Given the description of an element on the screen output the (x, y) to click on. 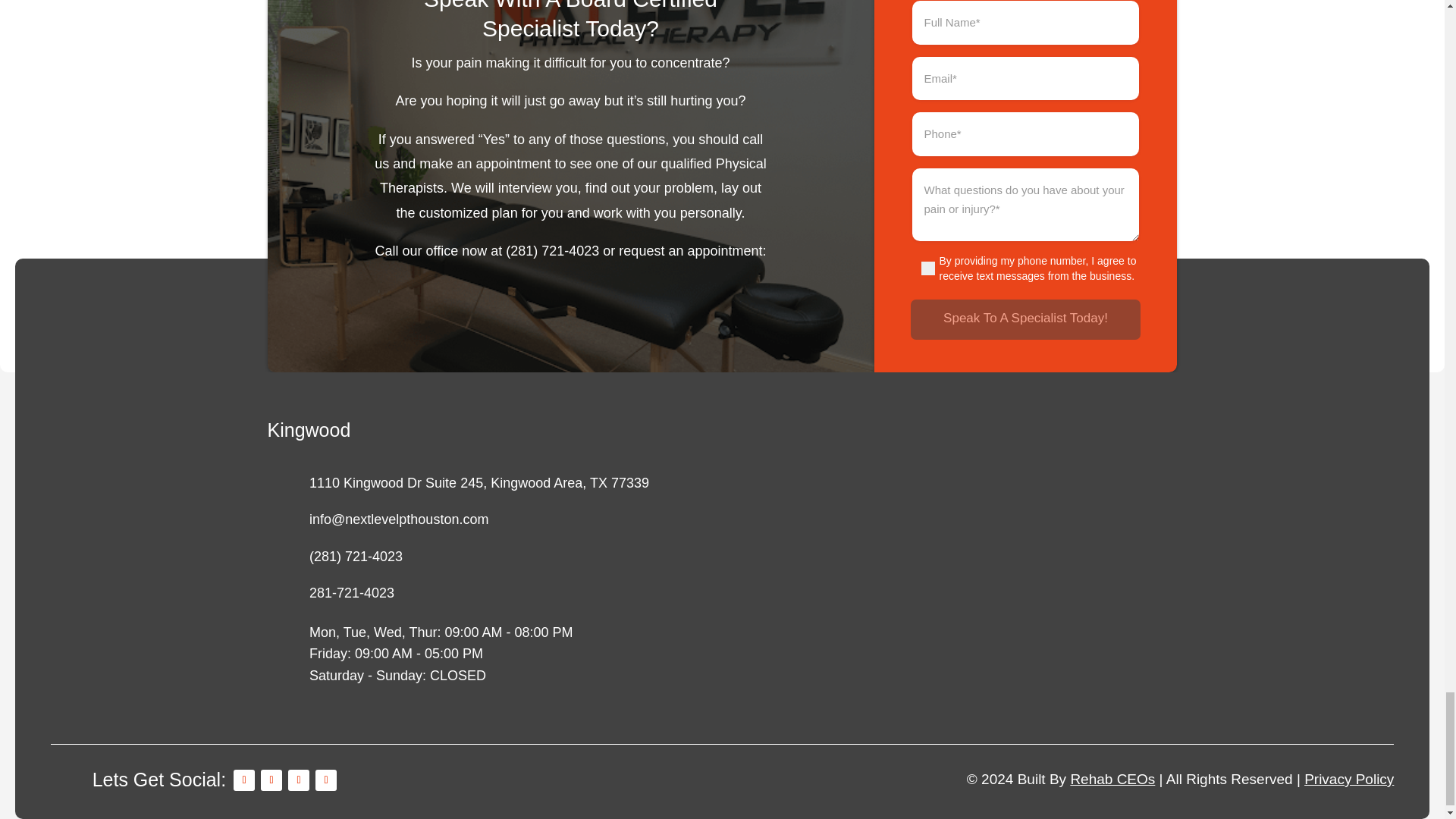
Speak To A Specialist Today! (1024, 318)
Follow on Youtube (325, 780)
Follow on Instagram (271, 780)
Follow on LinkedIn (298, 780)
Follow on Facebook (243, 780)
